Given the description of an element on the screen output the (x, y) to click on. 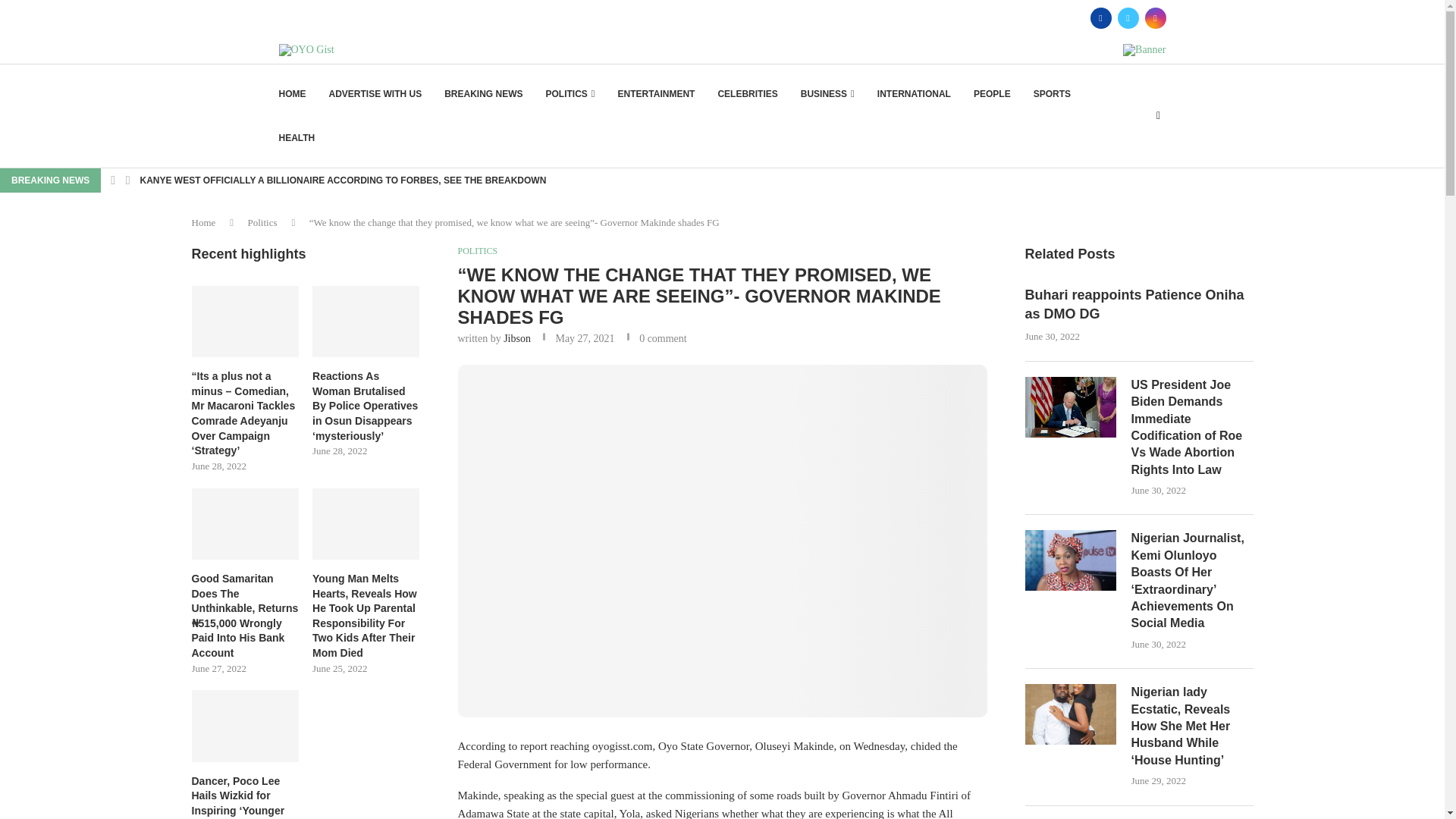
BREAKING NEWS (483, 94)
ENTERTAINMENT (656, 94)
ADVERTISE WITH US (375, 94)
BUSINESS (827, 94)
CELEBRITIES (747, 94)
Buhari reappoints Patience Oniha as DMO DG (1139, 304)
INTERNATIONAL (913, 94)
POLITICS (570, 94)
